Given the description of an element on the screen output the (x, y) to click on. 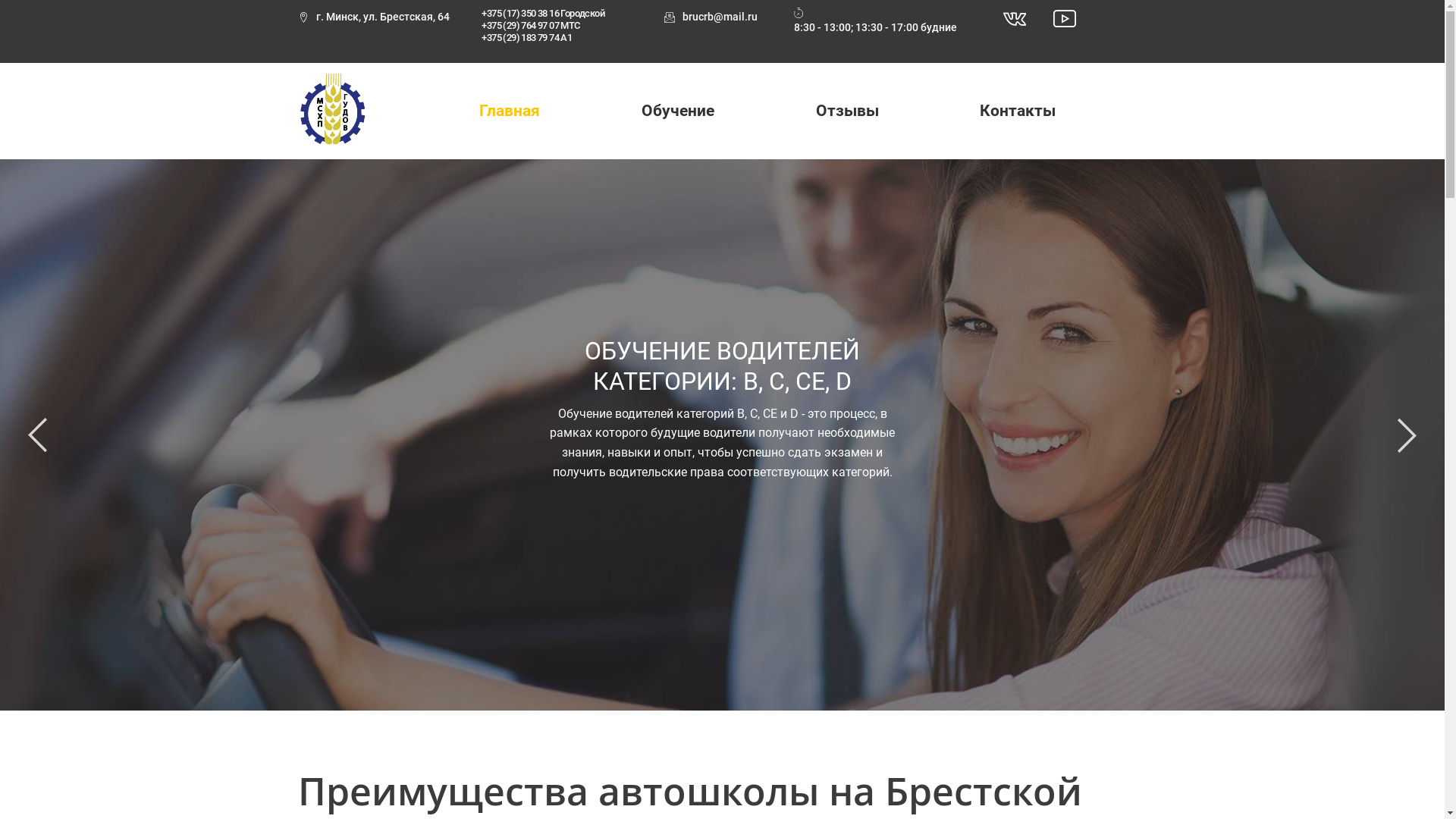
brucrb@mail.ru Element type: text (710, 17)
